Given the description of an element on the screen output the (x, y) to click on. 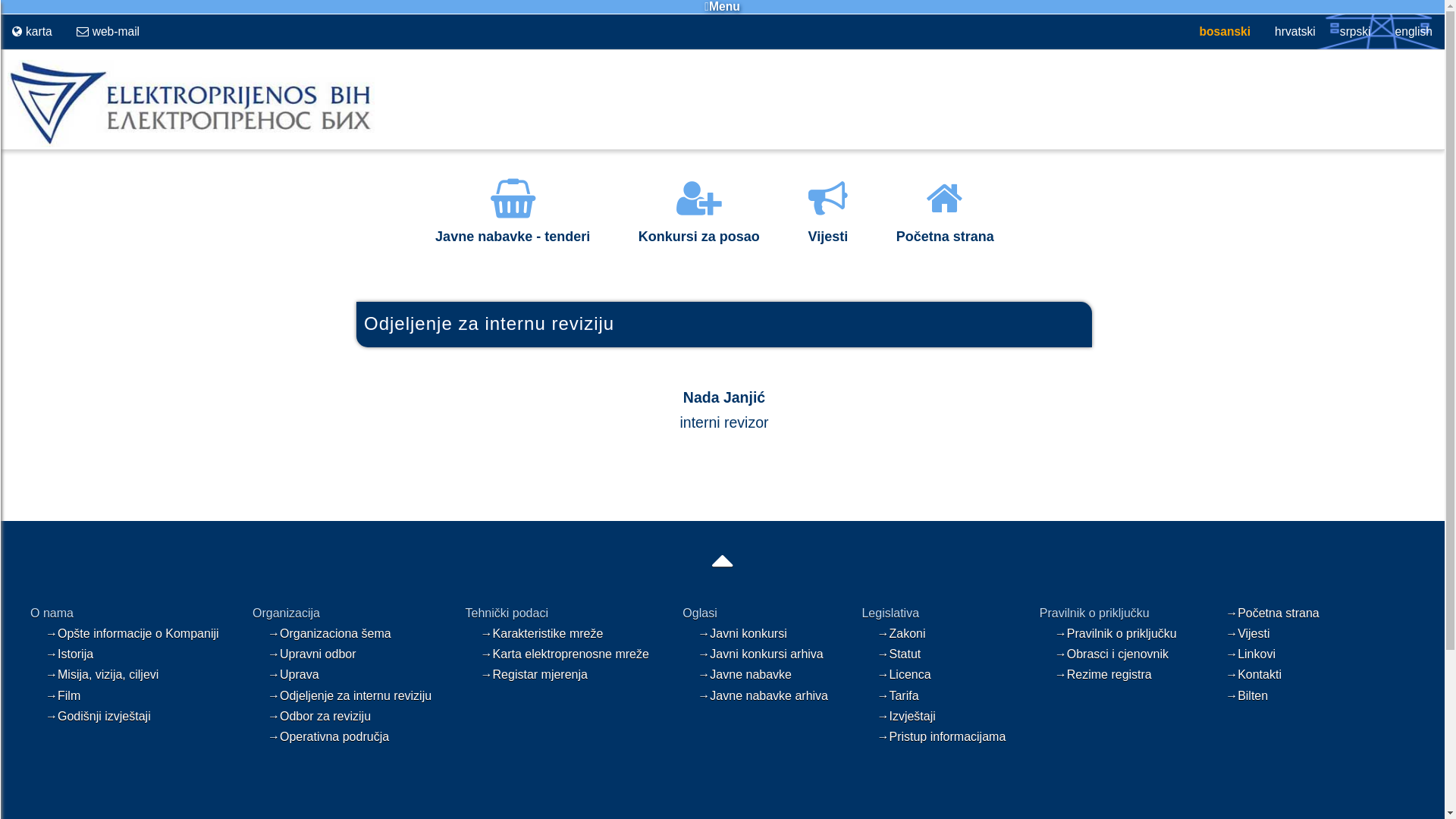
Konkursi za posao Element type: text (698, 225)
Vijesti Element type: text (827, 225)
web-mail Element type: text (107, 31)
english Element type: text (1413, 31)
Povratak na naslovnu stranicu. Element type: hover (187, 143)
srpski Element type: text (1355, 31)
bosanski Element type: text (1225, 31)
karta Element type: text (32, 31)
hrvatski Element type: text (1294, 31)
Javne nabavke - tenderi Element type: text (512, 225)
